Given the description of an element on the screen output the (x, y) to click on. 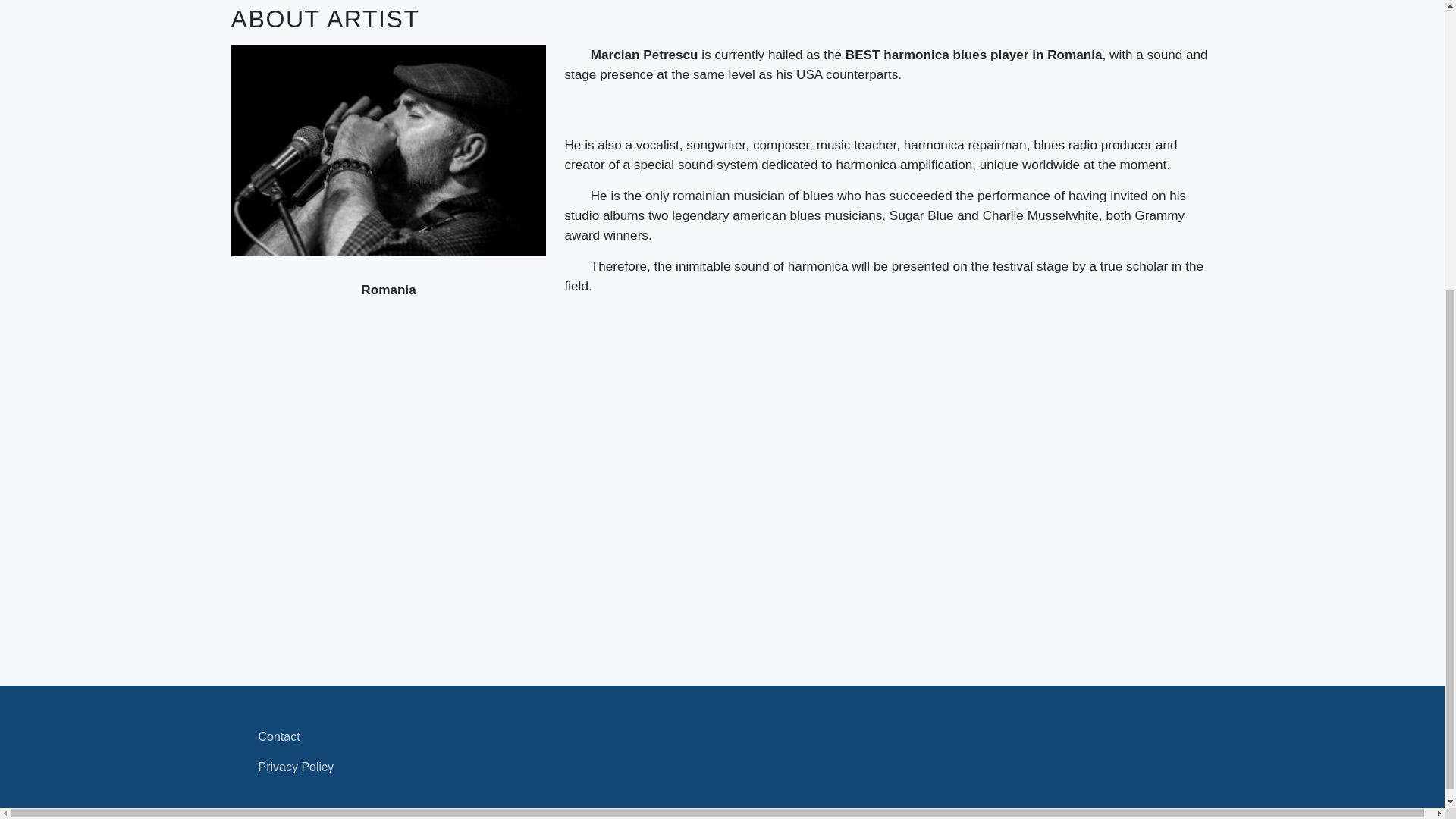
Contact (721, 736)
Privacy Policy (721, 767)
